Given the description of an element on the screen output the (x, y) to click on. 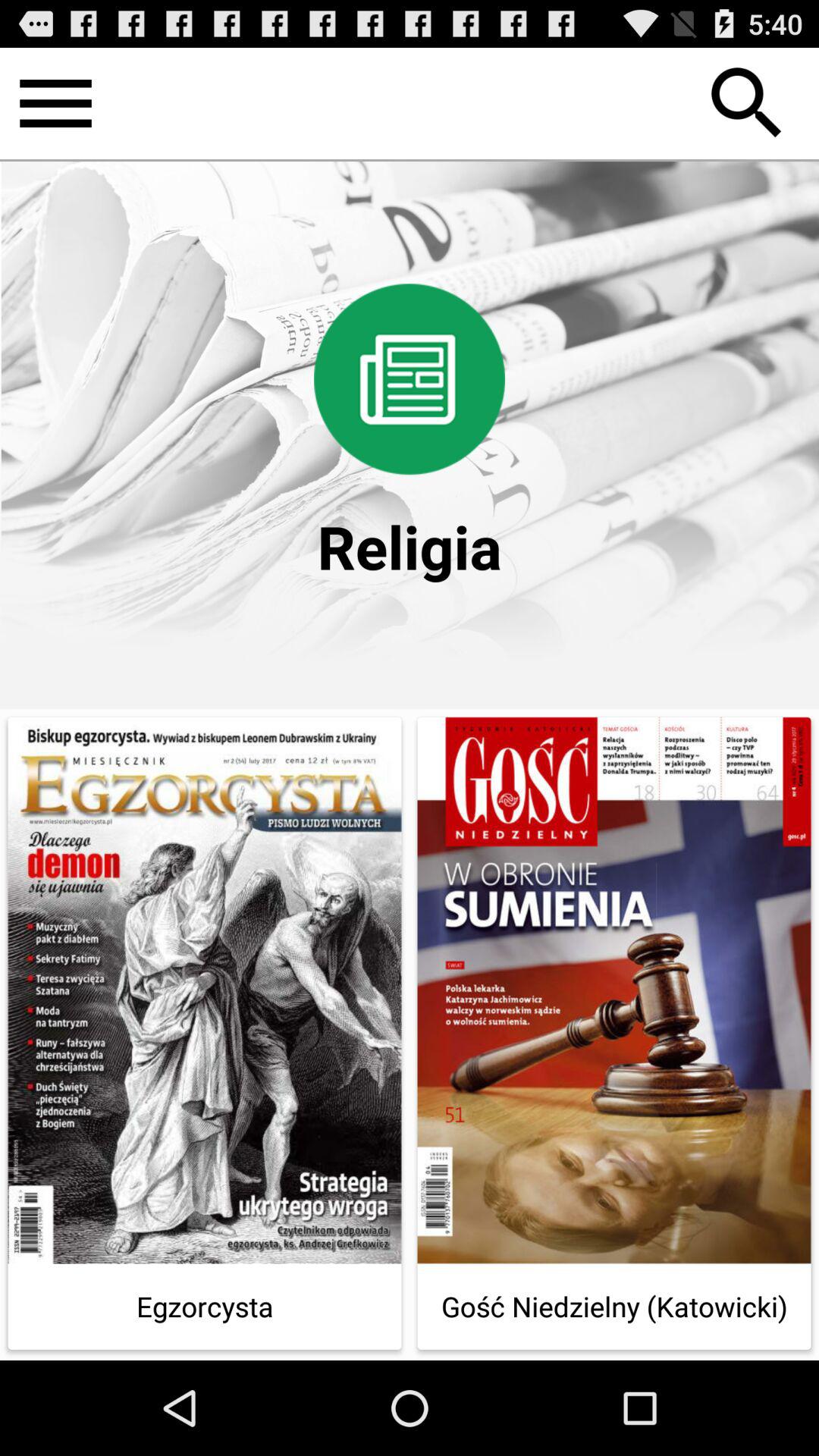
turn off icon at the top left corner (55, 103)
